Given the description of an element on the screen output the (x, y) to click on. 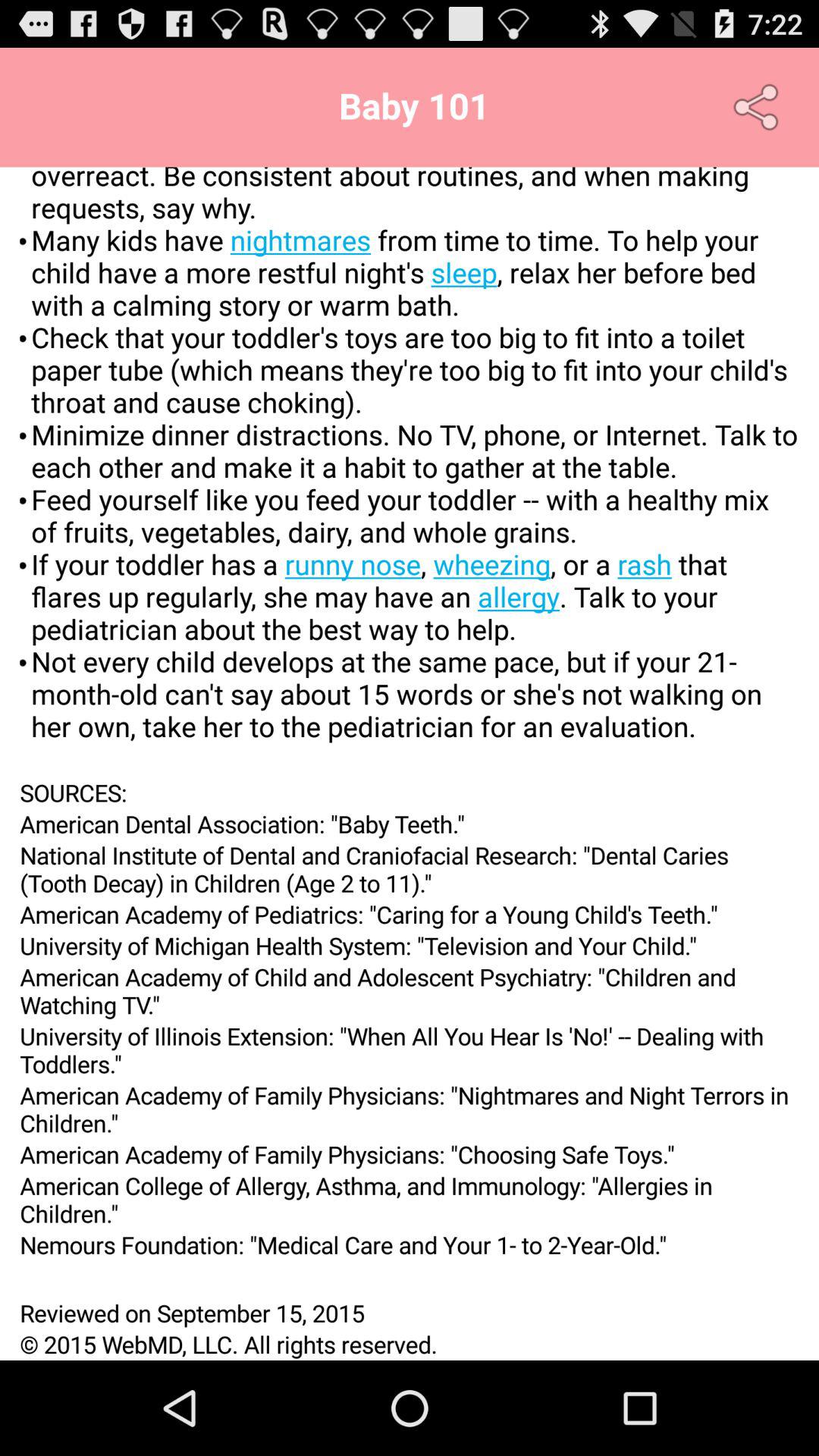
launch the app below american dental association app (409, 869)
